Given the description of an element on the screen output the (x, y) to click on. 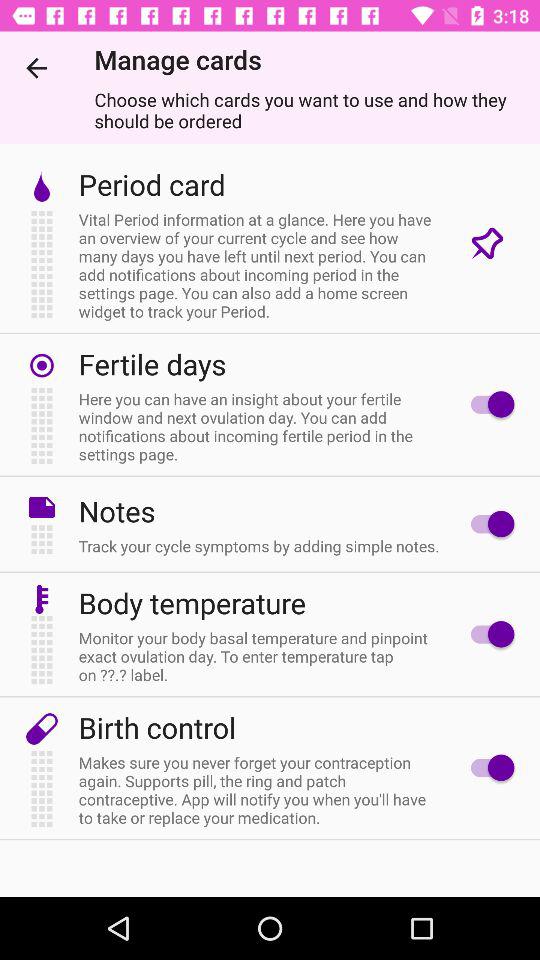
toggle on off option (487, 634)
